Given the description of an element on the screen output the (x, y) to click on. 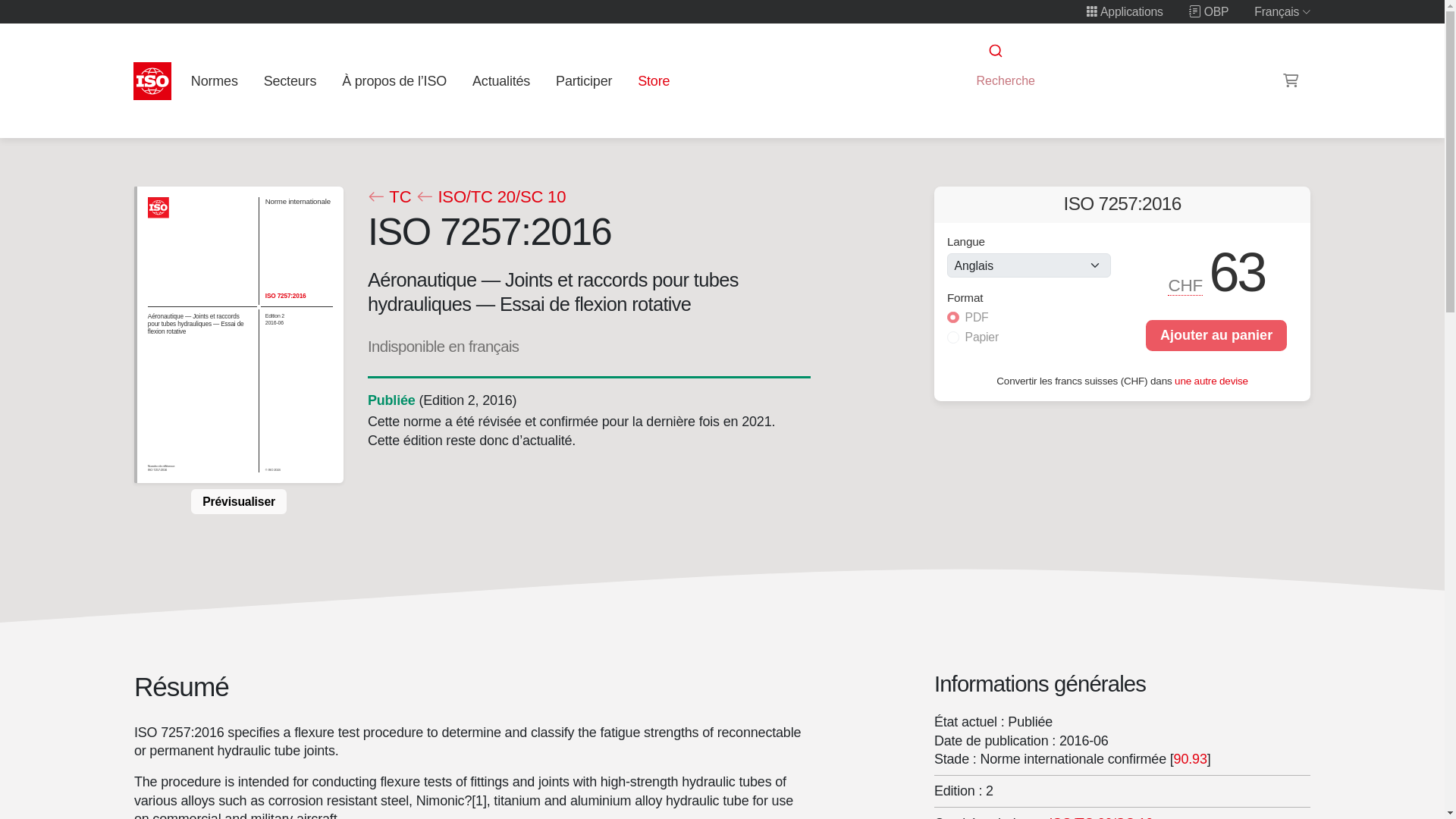
Organisation internationale de normalisation (152, 80)
Ajouter au panier (1217, 335)
Store (654, 80)
Portail des applications de l'ISO (1124, 11)
Panier d'achat (1290, 80)
TC (388, 197)
Participer (584, 80)
90.93 (1190, 758)
Submit (993, 51)
une autre devise (1210, 379)
90.93 (1190, 758)
Normes (214, 80)
Cycle de vie (390, 400)
Secteurs (290, 80)
 OBP (1208, 11)
